Given the description of an element on the screen output the (x, y) to click on. 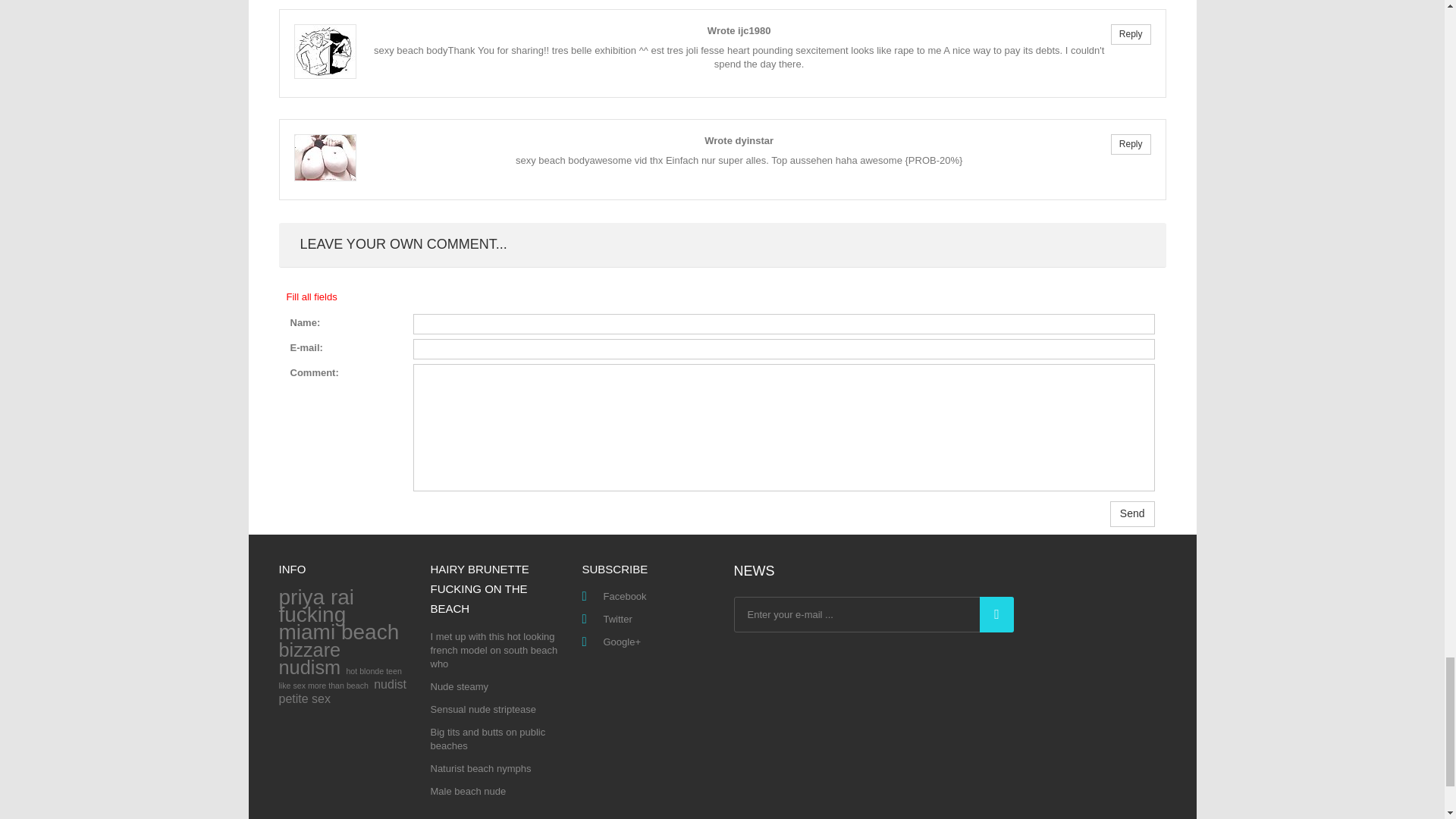
Enter your e-mail ... (873, 614)
Send (1131, 514)
